Given the description of an element on the screen output the (x, y) to click on. 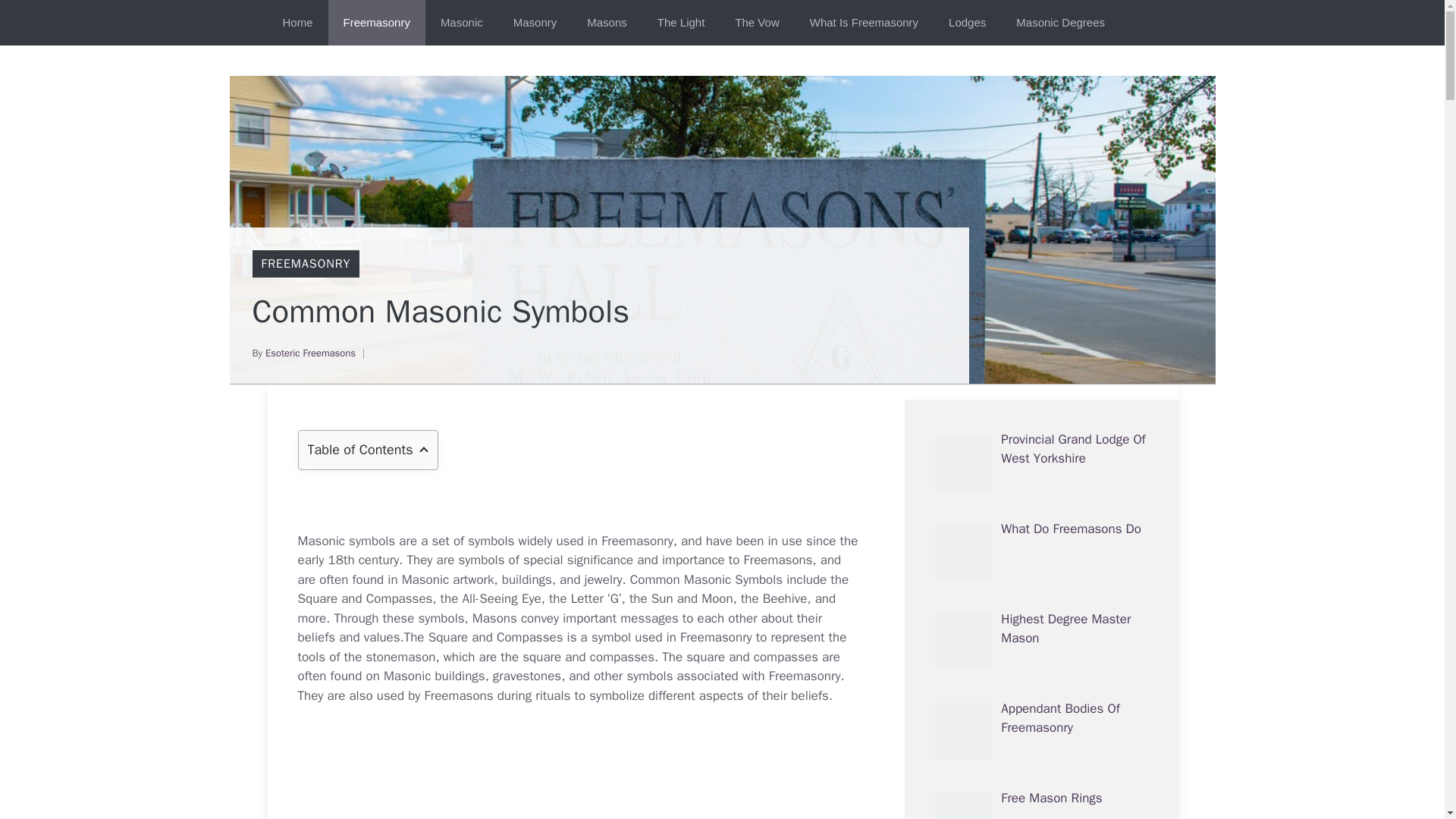
FREEMASONRY (305, 263)
Esoteric Freemasons (309, 352)
Masonic (461, 22)
YouTube video player (577, 771)
Home (296, 22)
The Light (681, 22)
Masons (607, 22)
The Vow (756, 22)
Freemasonry (377, 22)
Masonry (534, 22)
